Given the description of an element on the screen output the (x, y) to click on. 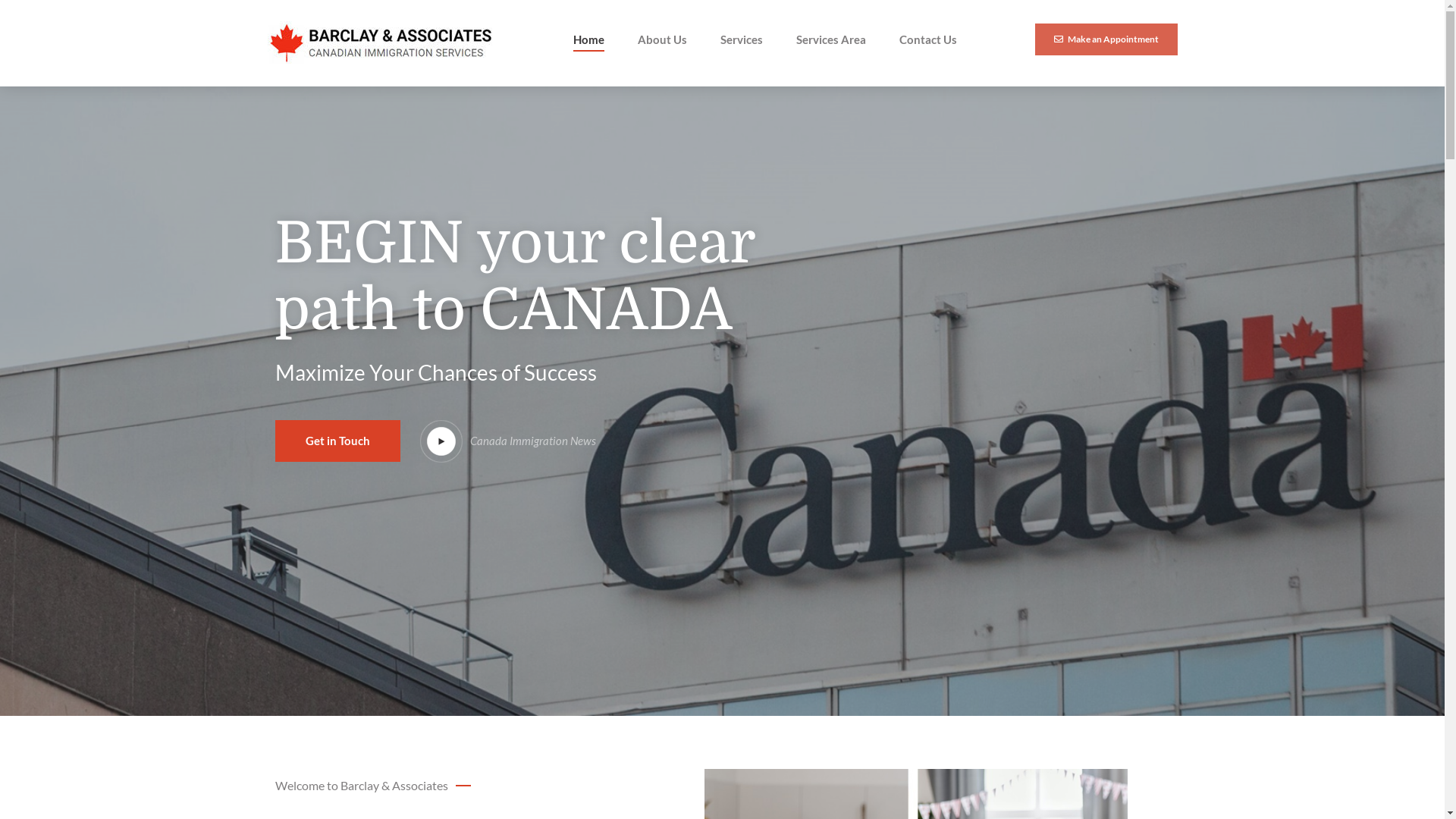
Contact Us Element type: text (927, 39)
Barclay & Associates Element type: hover (380, 43)
Get in Touch Element type: text (336, 440)
About Us Element type: text (661, 39)
Make an Appointment Element type: text (1105, 39)
Home Element type: text (588, 39)
Services Element type: text (741, 39)
Services Area Element type: text (830, 39)
